Given the description of an element on the screen output the (x, y) to click on. 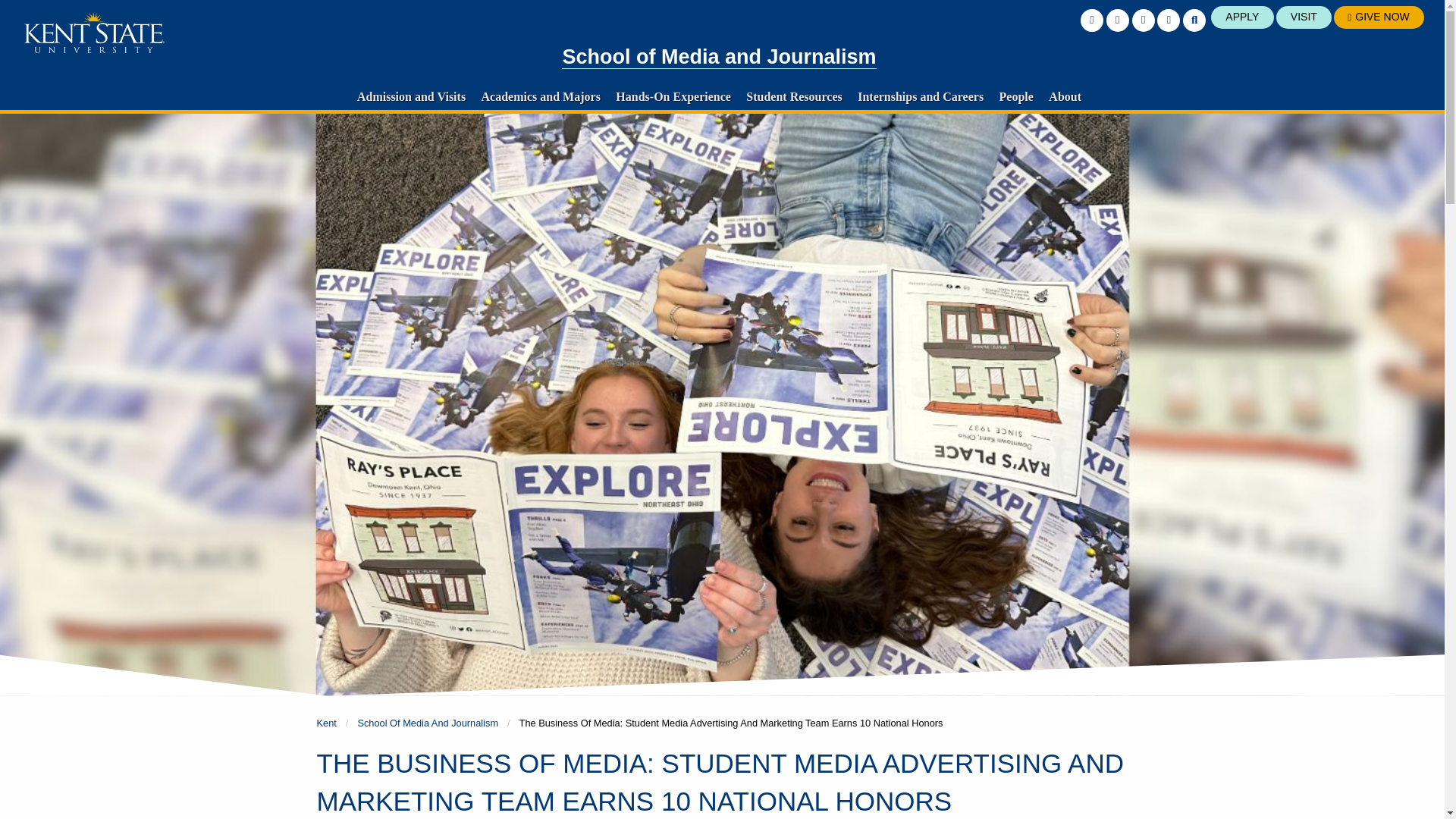
Admission and Visits (410, 96)
APPLY (1241, 16)
School of Media and Journalism (719, 56)
Kent State University logo (94, 32)
GIVE NOW (1378, 16)
VISIT (1304, 16)
